Given the description of an element on the screen output the (x, y) to click on. 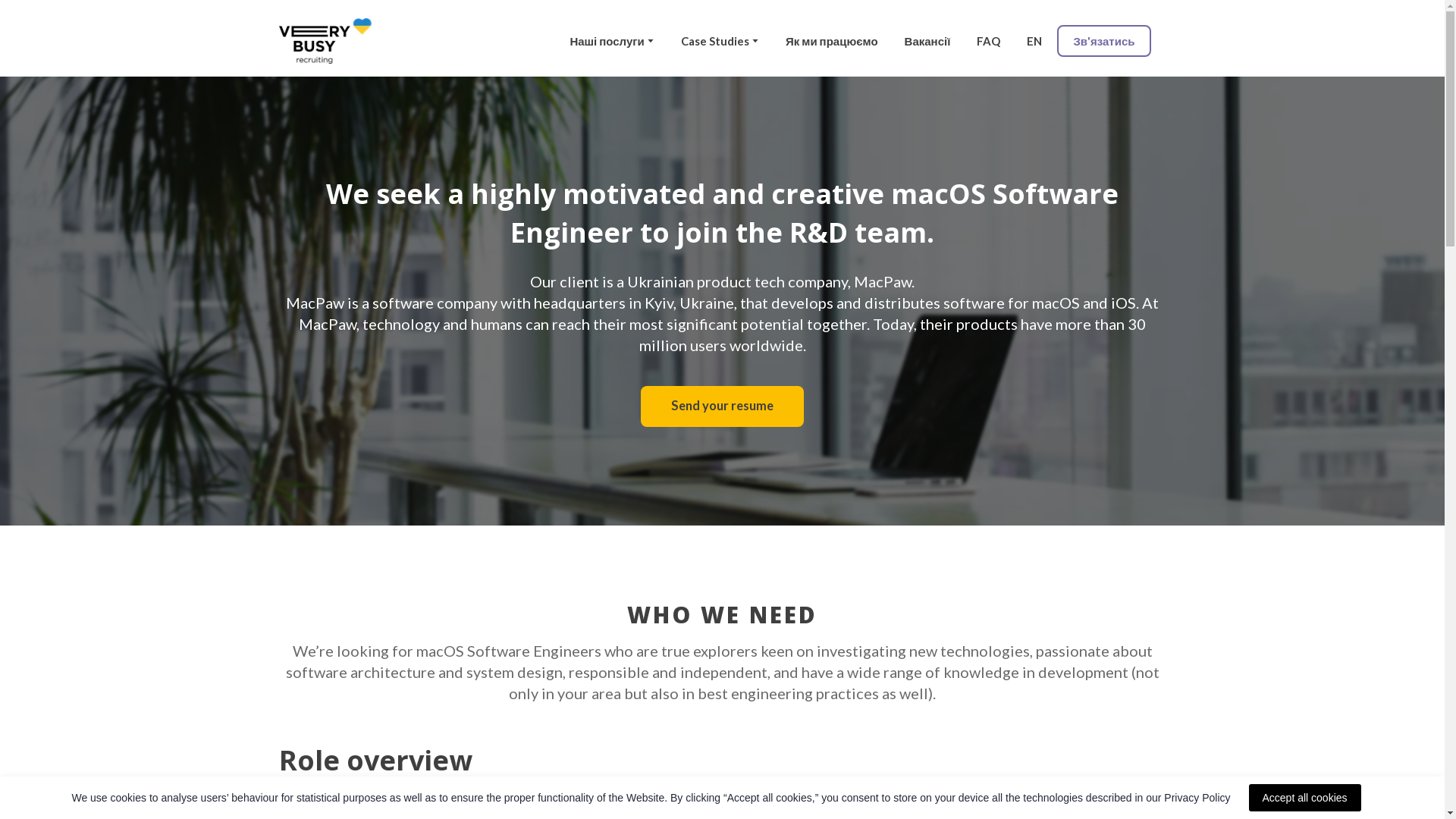
FAQ (988, 40)
Case Studies (715, 40)
EN (1034, 40)
